Given the description of an element on the screen output the (x, y) to click on. 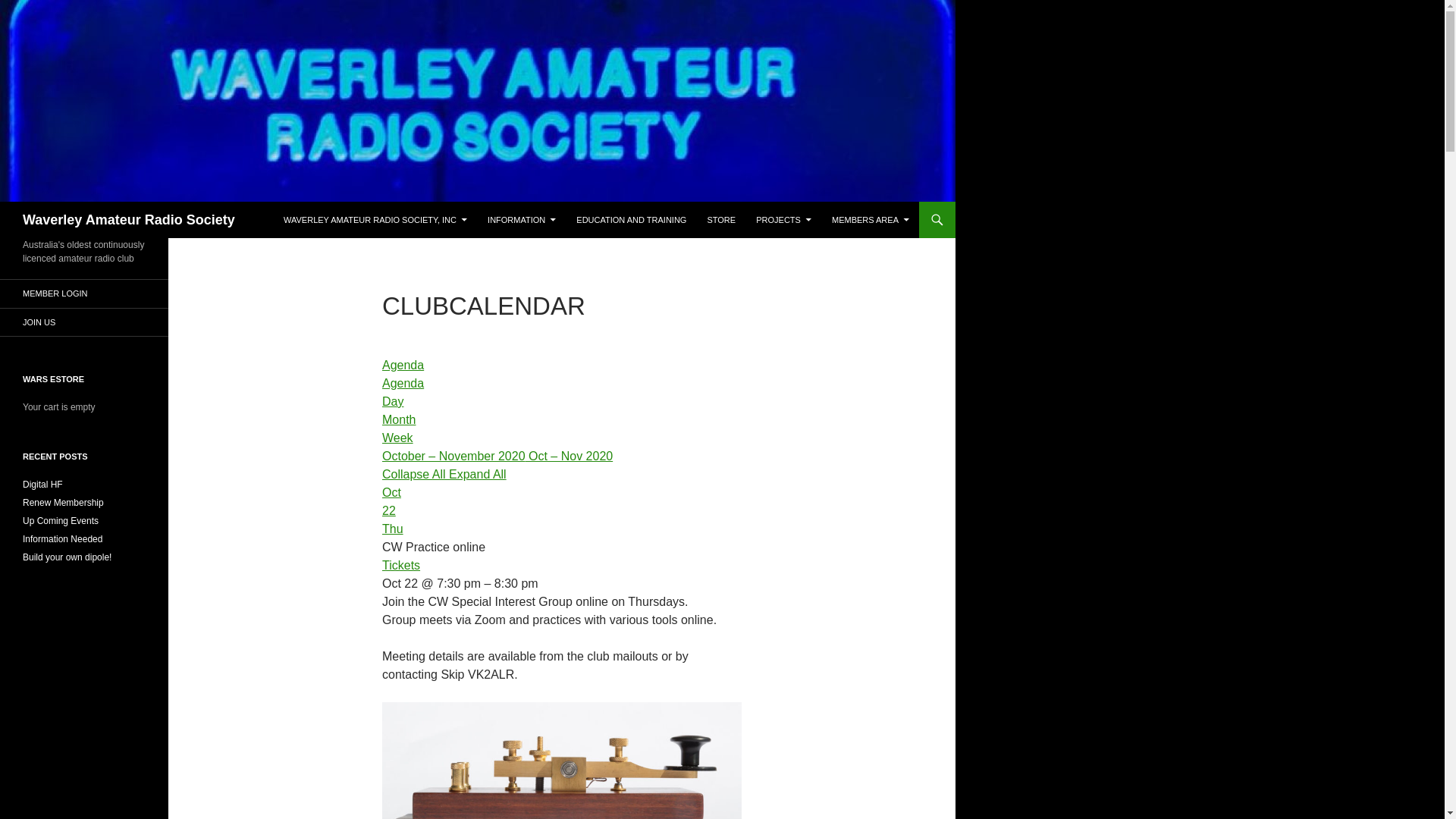
Agenda (402, 382)
Choose a date using calendar (496, 455)
INFORMATION (521, 219)
STORE (720, 219)
WAVERLEY AMATEUR RADIO SOCIETY, INC (375, 219)
Waverley Amateur Radio Society (128, 219)
EDUCATION AND TRAINING (631, 219)
MEMBERS AREA (870, 219)
Agenda (402, 364)
